Given the description of an element on the screen output the (x, y) to click on. 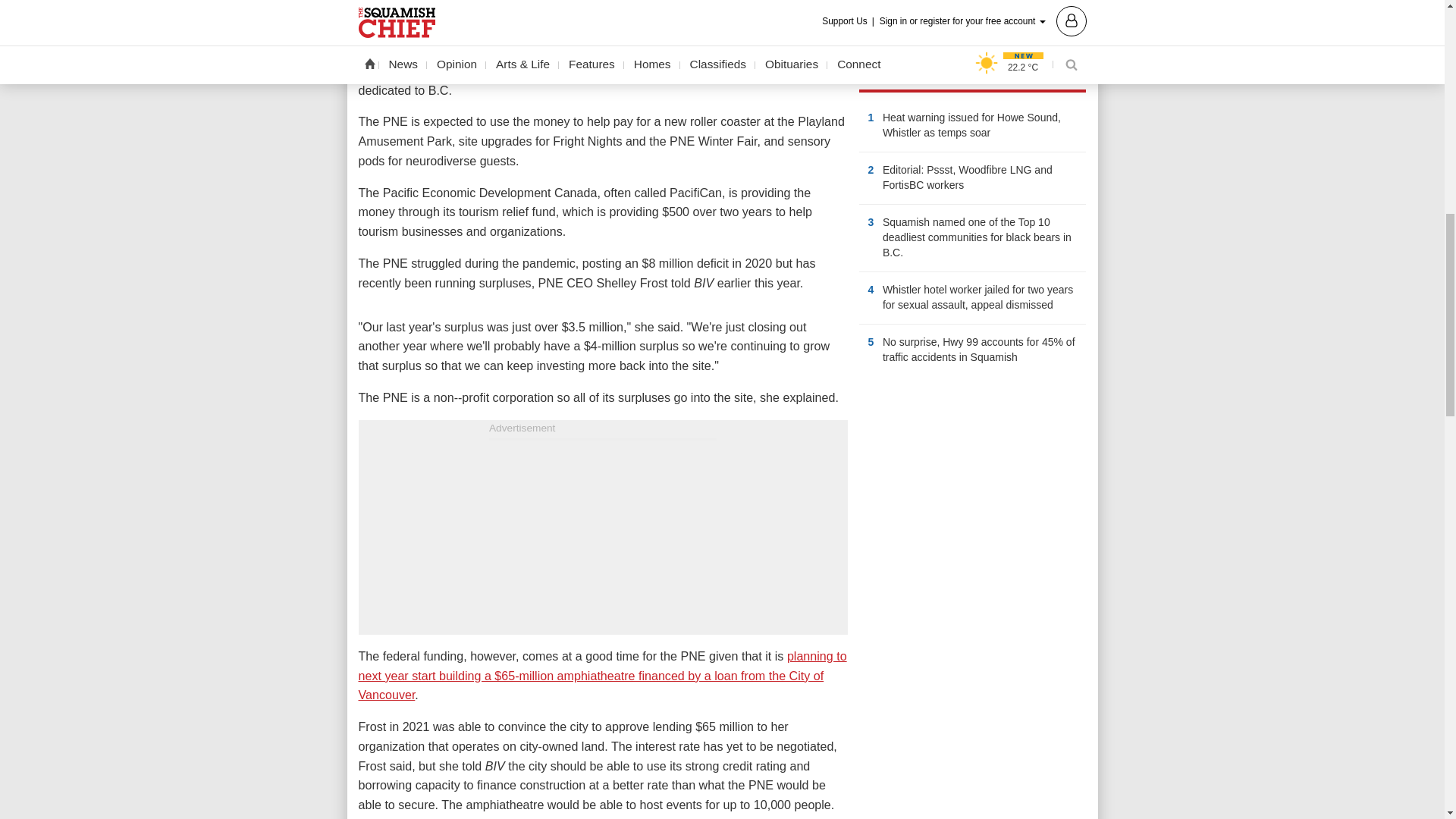
3rd party ad content (972, 485)
3rd party ad content (602, 534)
